Given the description of an element on the screen output the (x, y) to click on. 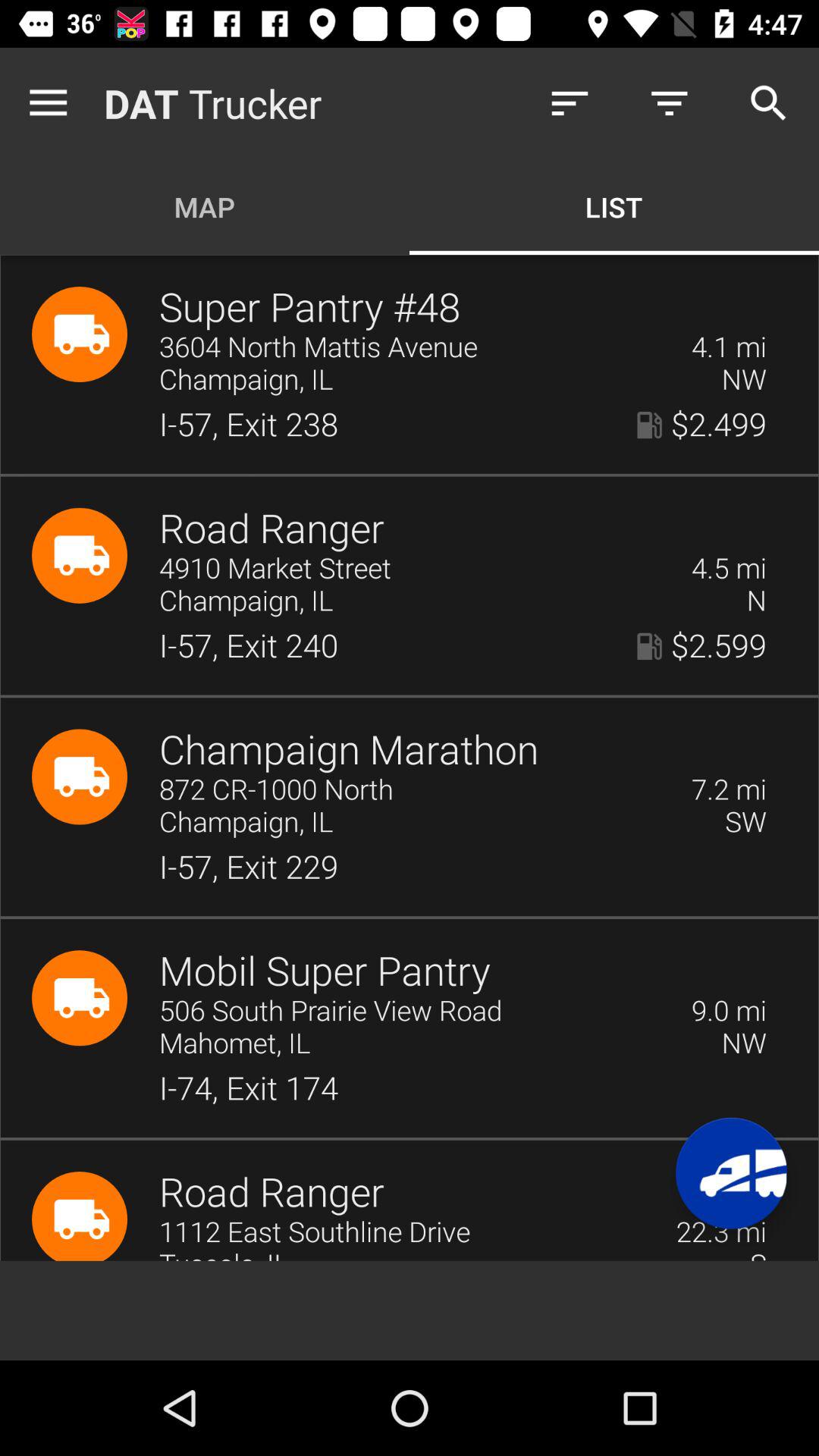
swipe until the 4910 market street (415, 568)
